Given the description of an element on the screen output the (x, y) to click on. 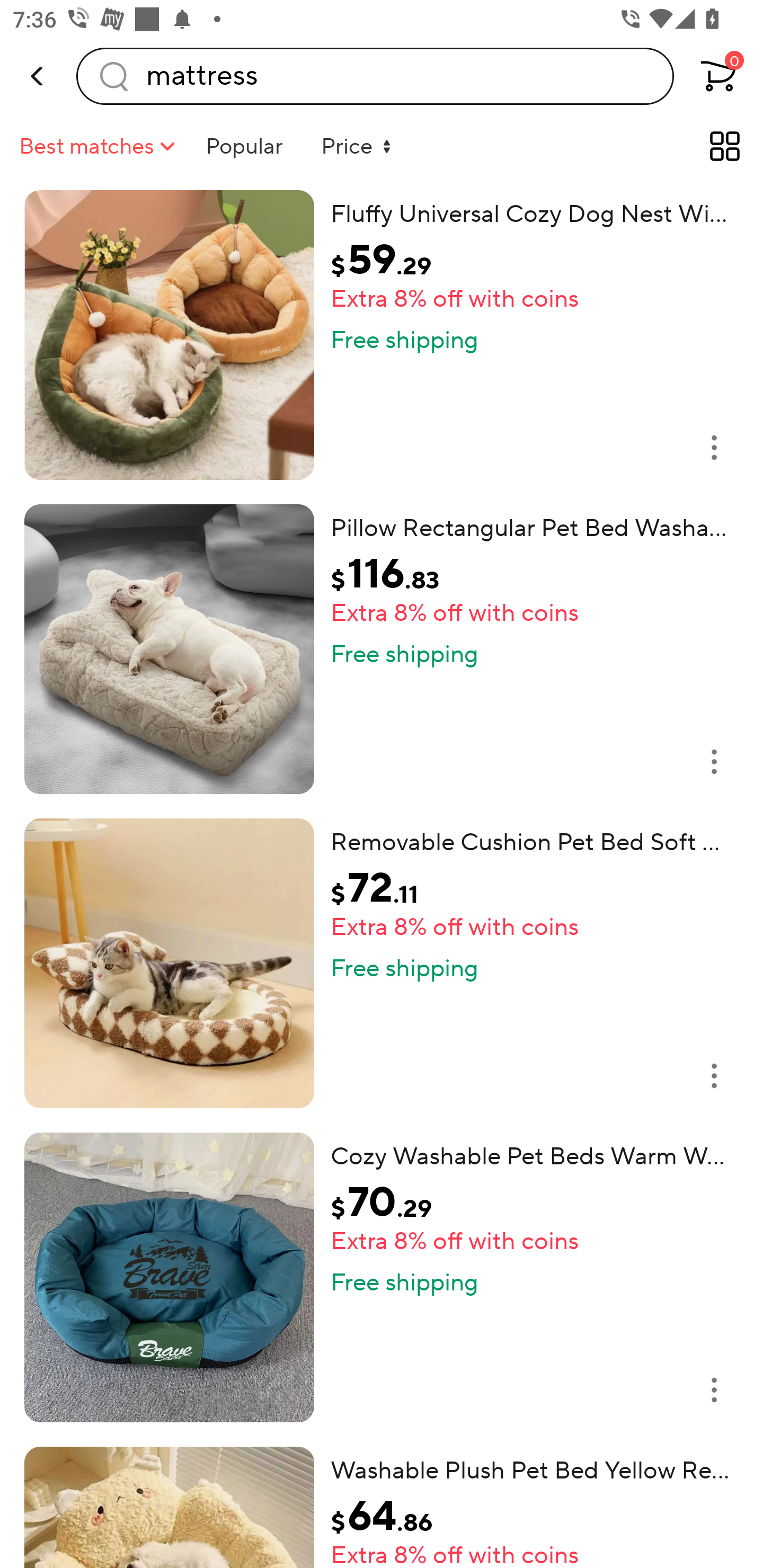
back (38, 75)
mattress Search query (374, 76)
mattress Search query (375, 76)
0 (727, 75)
Best matches (99, 146)
Popular (244, 146)
Price (361, 146)
